Given the description of an element on the screen output the (x, y) to click on. 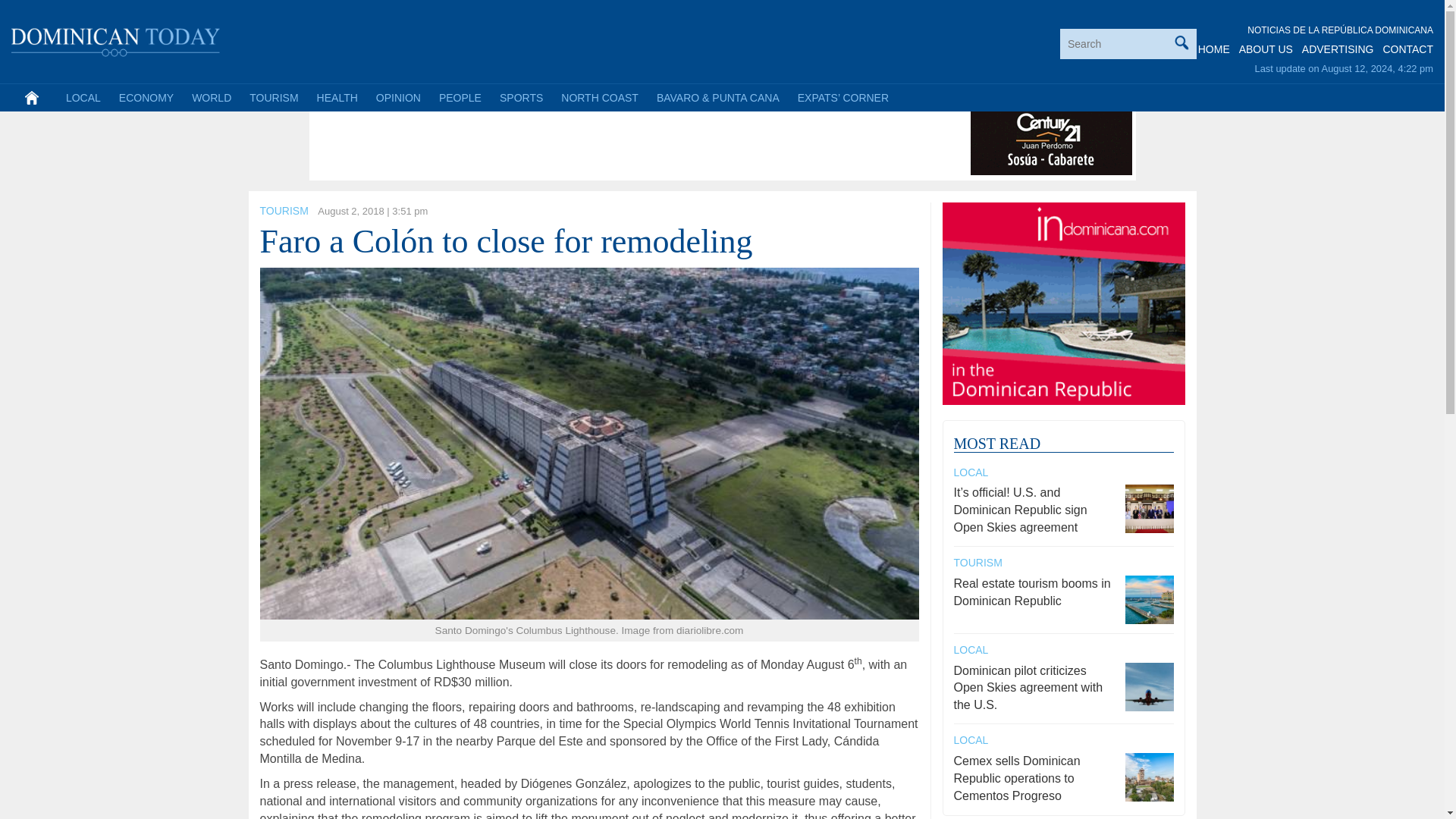
LOCAL (83, 97)
PEOPLE (459, 97)
NORTH COAST (599, 97)
WORLD (211, 97)
Dominican Today News - Santo Domingo and Dominican Republic (116, 38)
SPORTS (520, 97)
CONTACT (1406, 49)
OPINION (397, 97)
ECONOMY (146, 97)
